Given the description of an element on the screen output the (x, y) to click on. 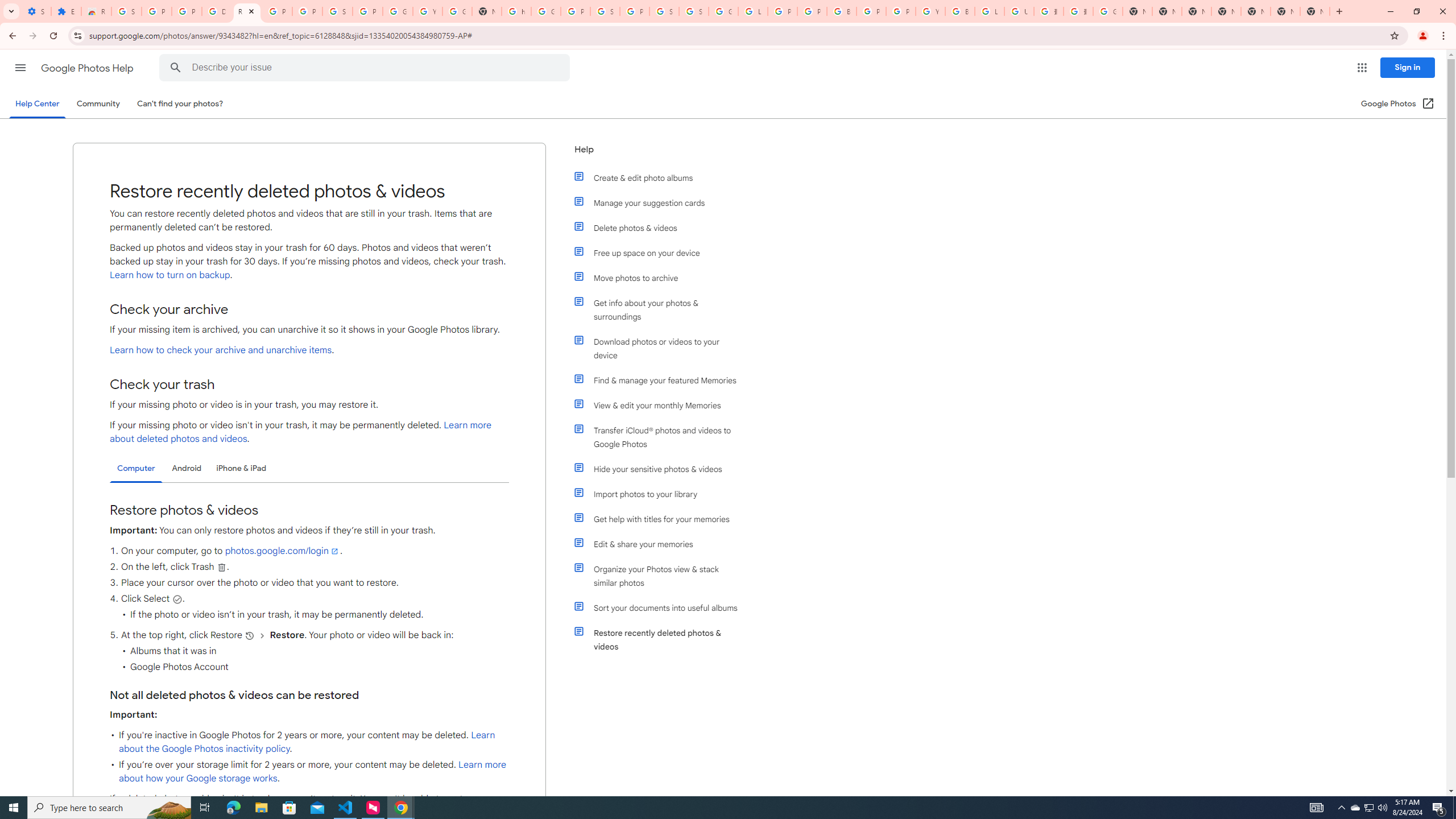
Sign in - Google Accounts (693, 11)
Reviews: Helix Fruit Jump Arcade Game (95, 11)
Free up space on your device (661, 252)
Sign in - Google Accounts (126, 11)
Settings - On startup (36, 11)
Google Photos (Open in a new window) (1397, 103)
Learn how to check your archive and unarchive items (220, 350)
Get info about your photos & surroundings (661, 309)
